Given the description of an element on the screen output the (x, y) to click on. 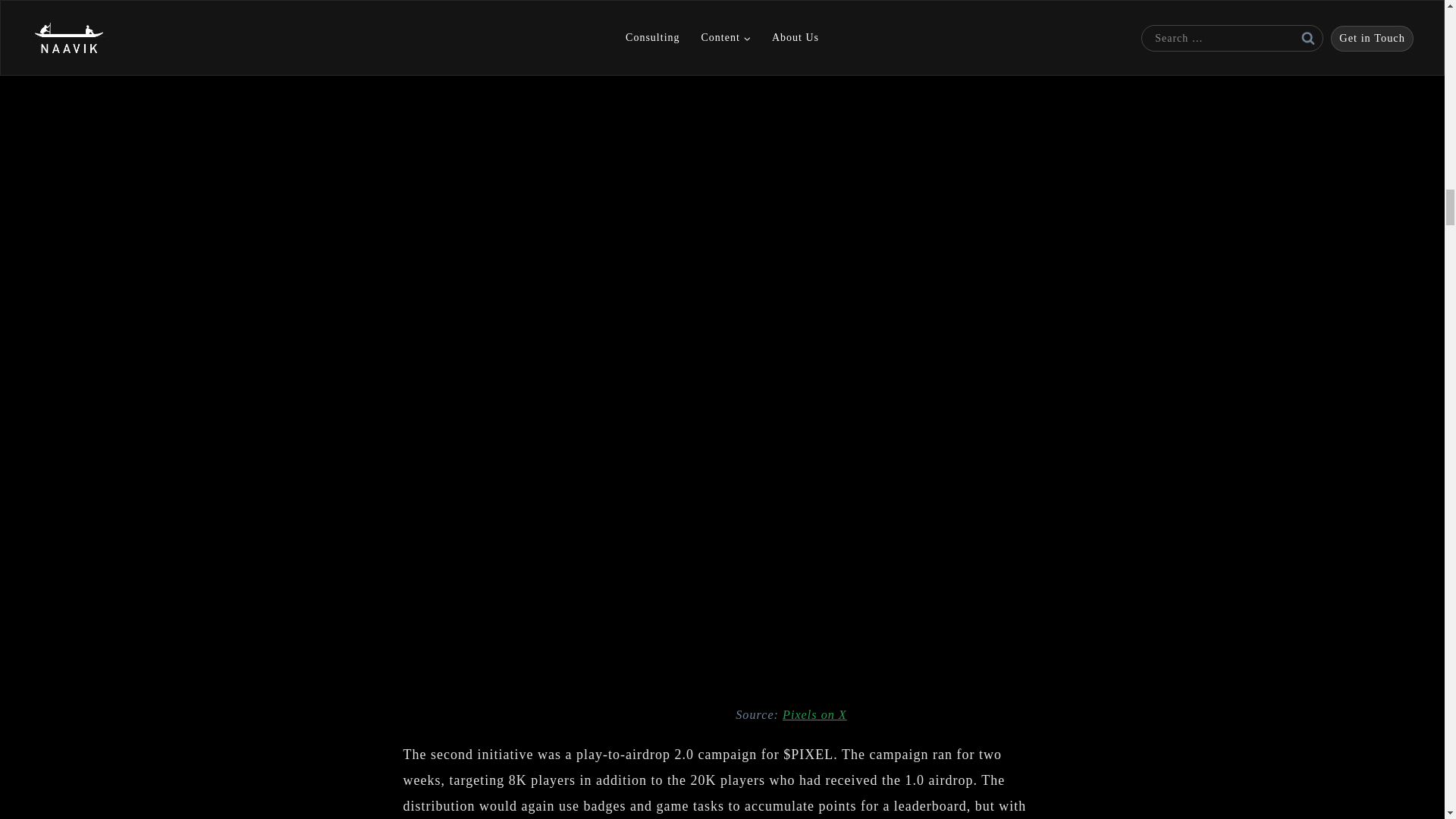
Pixels on X (815, 714)
